Given the description of an element on the screen output the (x, y) to click on. 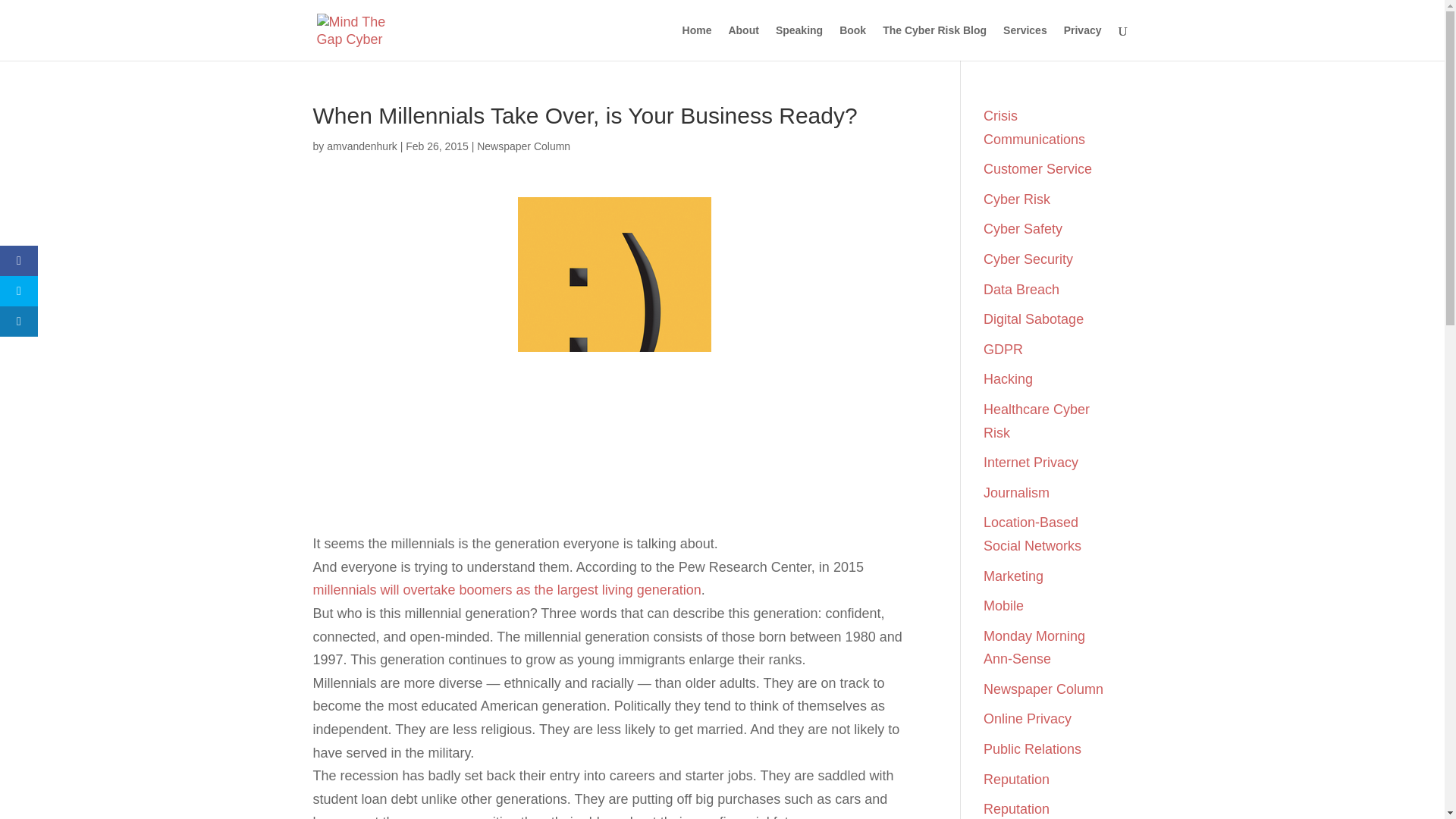
Marketing (1013, 575)
Services (1024, 42)
Privacy (1083, 42)
GDPR (1003, 349)
Online Privacy (1027, 718)
Journalism (1016, 492)
Internet Privacy (1031, 462)
Healthcare Cyber Risk (1036, 421)
Data Breach (1021, 289)
The Cyber Risk Blog (934, 42)
